Given the description of an element on the screen output the (x, y) to click on. 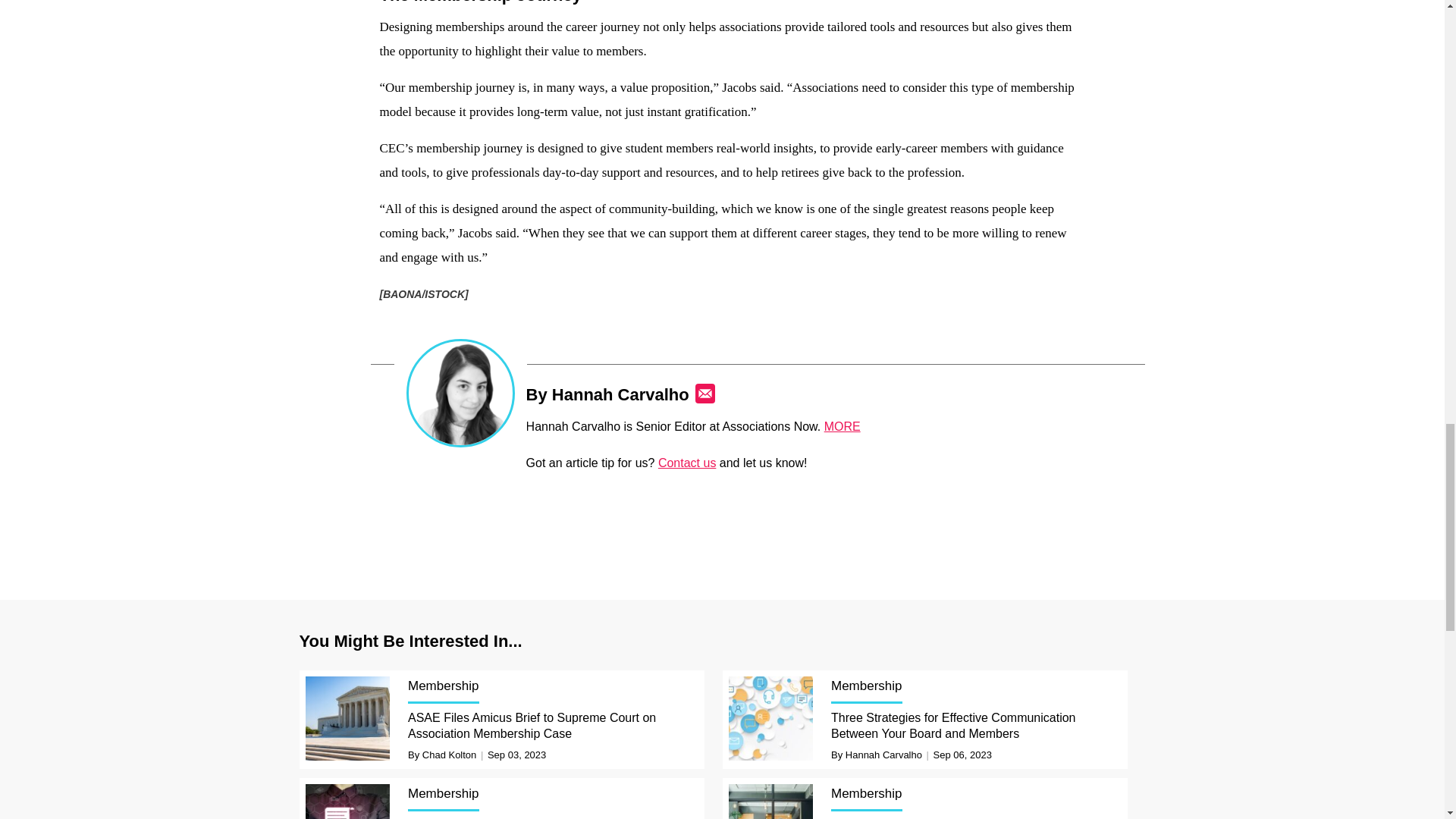
Contact us (687, 462)
Mail (704, 393)
3rd party ad content (722, 521)
MORE (842, 426)
Email (704, 393)
